Given the description of an element on the screen output the (x, y) to click on. 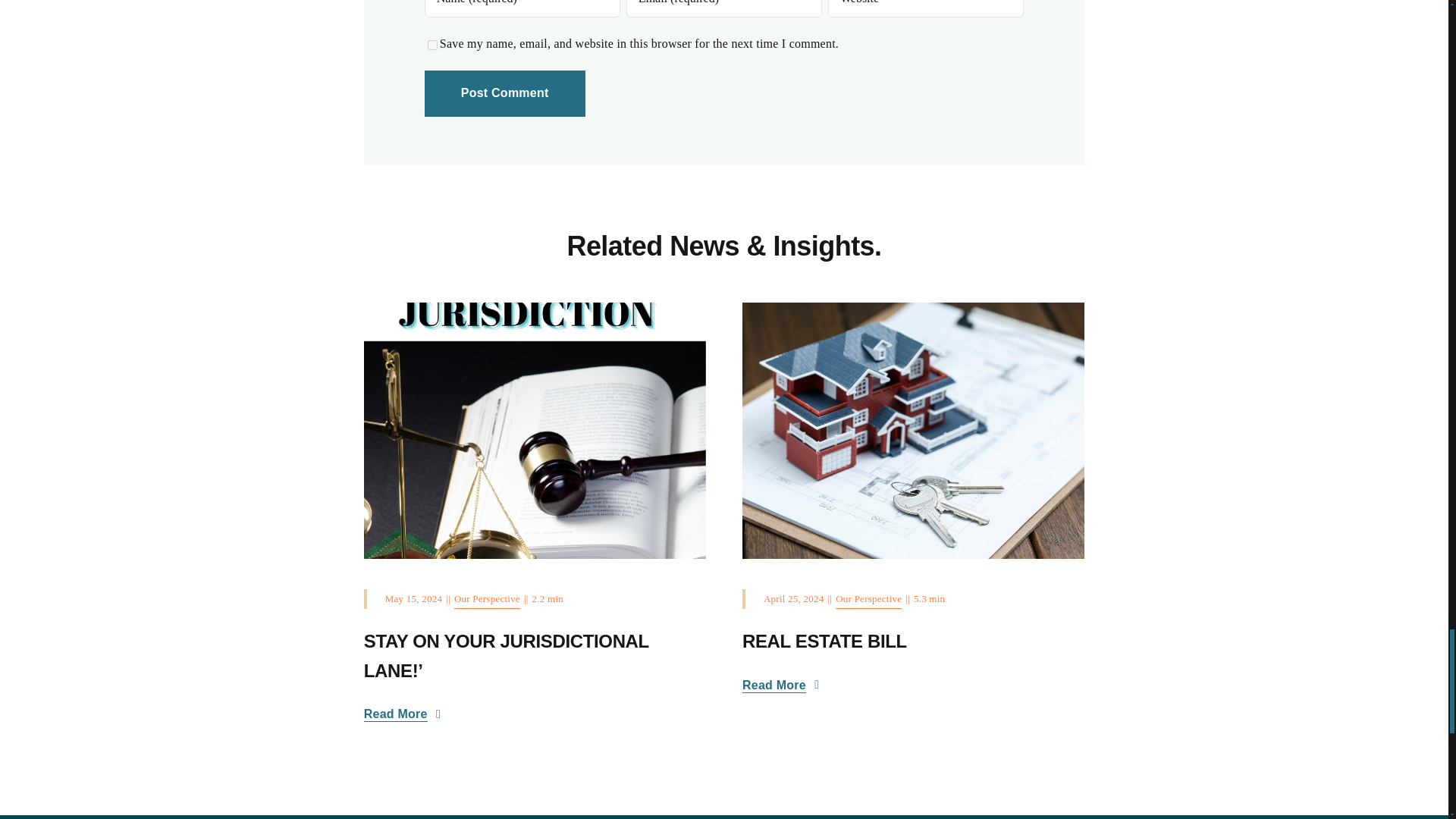
Post Comment (505, 93)
yes (433, 44)
